Given the description of an element on the screen output the (x, y) to click on. 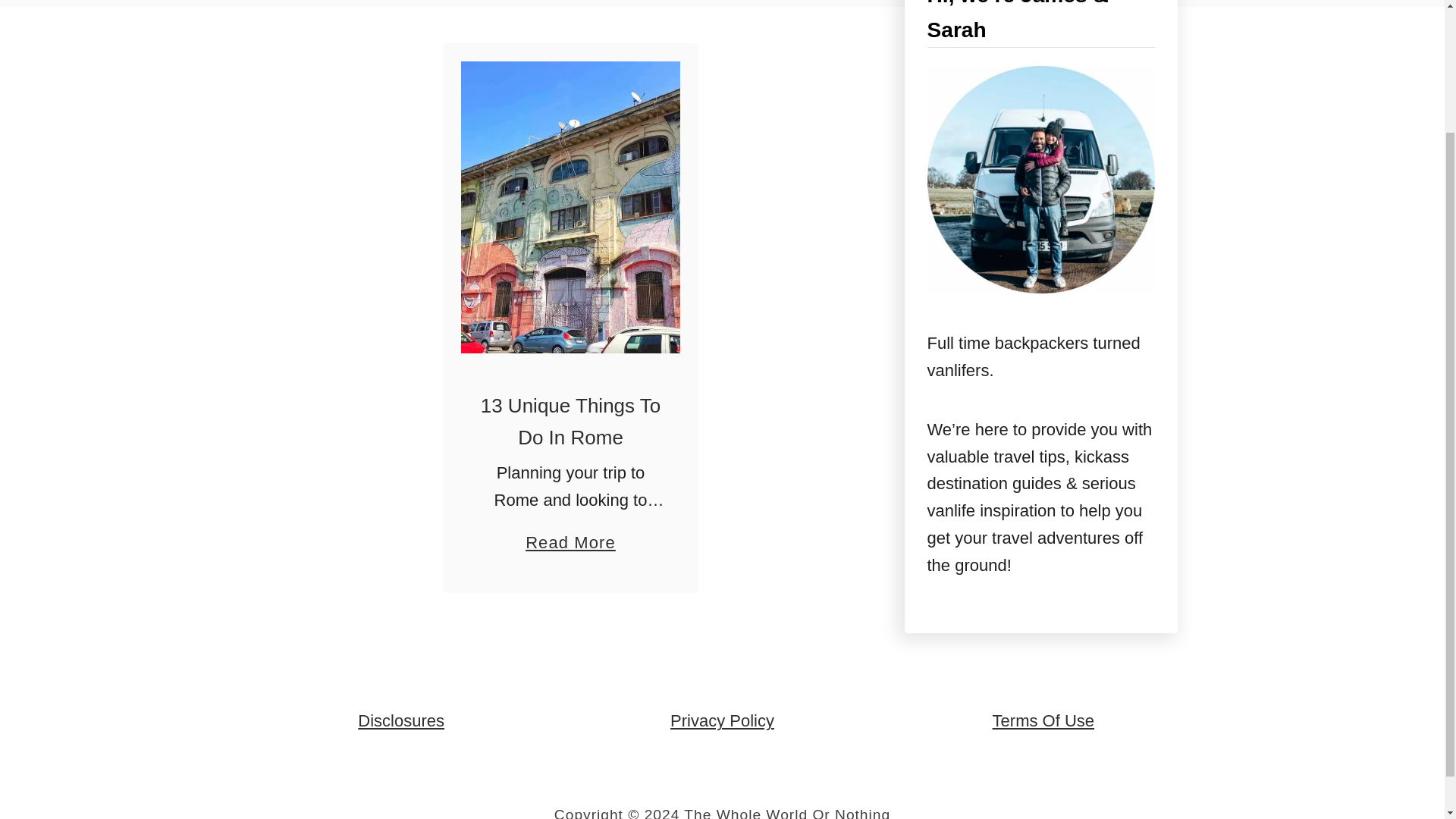
Terms Of Use (1043, 720)
Disclosures (570, 535)
Privacy Policy (401, 720)
13 Unique Things To Do In Rome (721, 720)
